Given the description of an element on the screen output the (x, y) to click on. 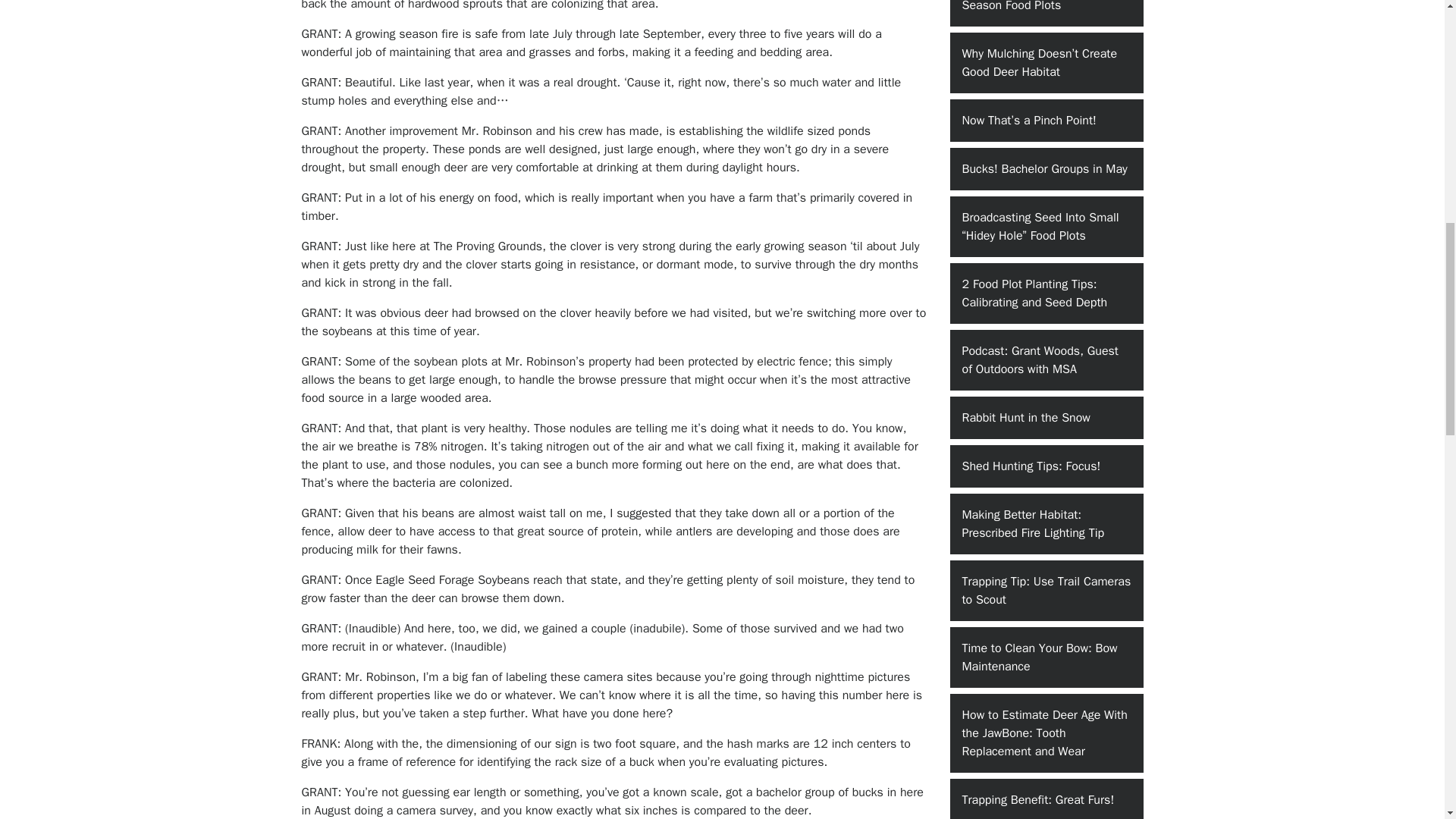
Podcast: Grant Woods, Guest of Outdoors with MSA (1045, 360)
Making Better Habitat: Prescribed Fire Lighting Tip (1045, 523)
Trapping Tip: Use Trail Cameras to Scout (1045, 590)
Bucks! Bachelor Groups in May (1045, 169)
Shed Hunting Tips: Focus! (1045, 466)
Time to Clean Your Bow: Bow Maintenance (1045, 657)
2 Food Plot Planting Tips: Calibrating and Seed Depth (1045, 292)
Rabbit Hunt in the Snow (1045, 417)
Trapping Benefit: Great Furs! (1045, 798)
